Given the description of an element on the screen output the (x, y) to click on. 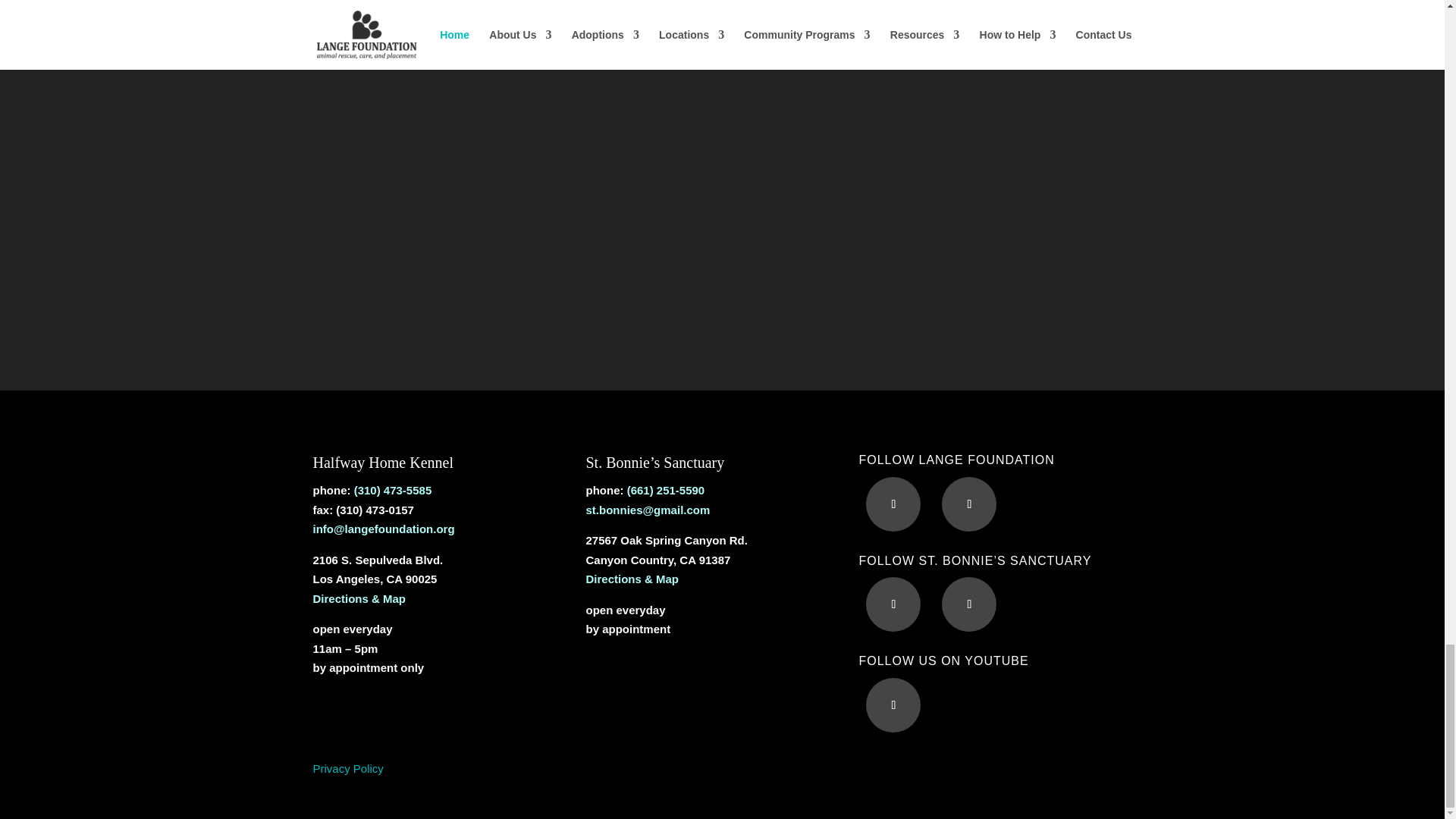
Follow on Instagram (968, 503)
Follow on Youtube (893, 704)
Follow on Facebook (893, 604)
Follow on Facebook (893, 503)
Follow on Instagram (968, 604)
